Given the description of an element on the screen output the (x, y) to click on. 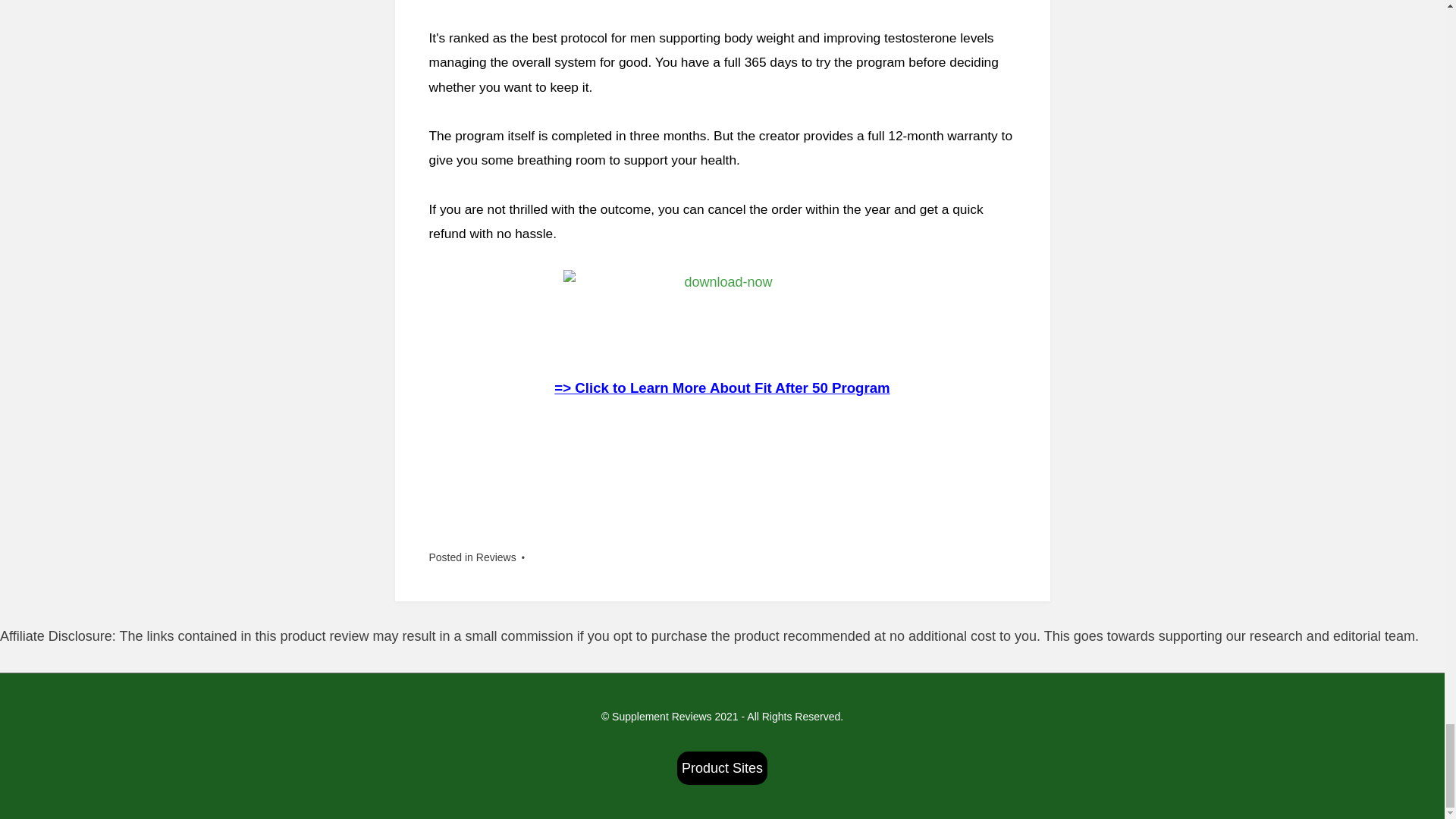
Product Sites (722, 767)
Reviews (496, 557)
